Given the description of an element on the screen output the (x, y) to click on. 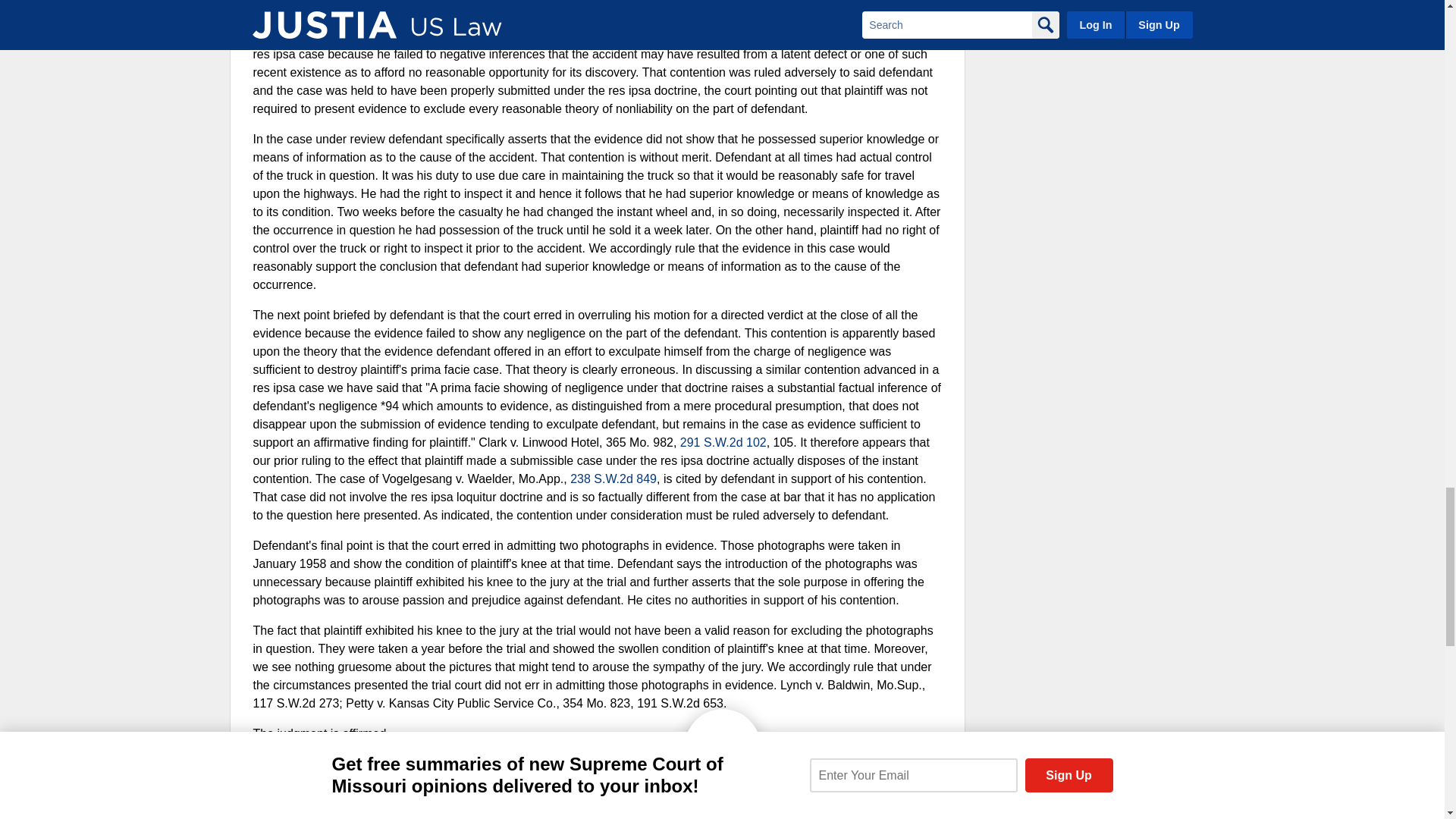
238 S.W.2d 849 (613, 478)
291 S.W.2d 102 (723, 441)
